Given the description of an element on the screen output the (x, y) to click on. 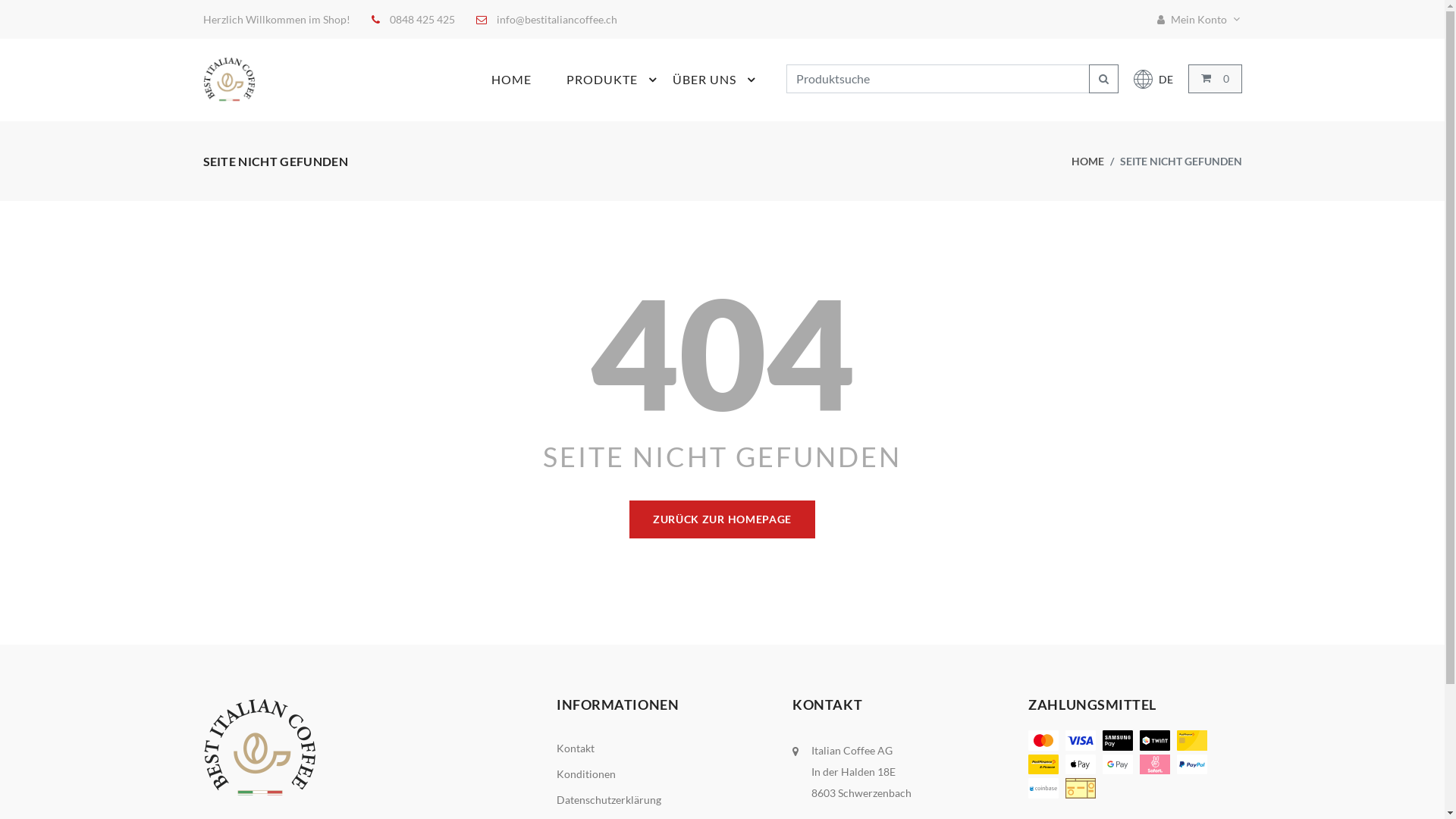
0848 425 425 Element type: text (422, 18)
Mastercard Element type: hover (1043, 740)
Paypal Element type: hover (1191, 764)
Sofort Element type: hover (1154, 764)
Coinbase-commerce Element type: hover (1043, 788)
logo Element type: hover (229, 78)
Google-pay Element type: hover (1117, 764)
Apple-pay Element type: hover (1080, 764)
logo Element type: hover (259, 746)
Konditionen Element type: text (585, 773)
Auf Rechnung Element type: hover (1080, 788)
Visa Element type: hover (1080, 740)
Post-finance-e-finance Element type: hover (1043, 764)
Twint Element type: hover (1154, 740)
info@bestitaliancoffee.ch Element type: text (555, 18)
Post-finance-card Element type: hover (1191, 740)
HOME Element type: text (1086, 160)
Kontakt Element type: text (575, 747)
Samsung-pay Element type: hover (1117, 740)
HOME Element type: text (528, 78)
PRODUKTE Element type: text (619, 78)
0 Element type: text (1214, 78)
